Given the description of an element on the screen output the (x, y) to click on. 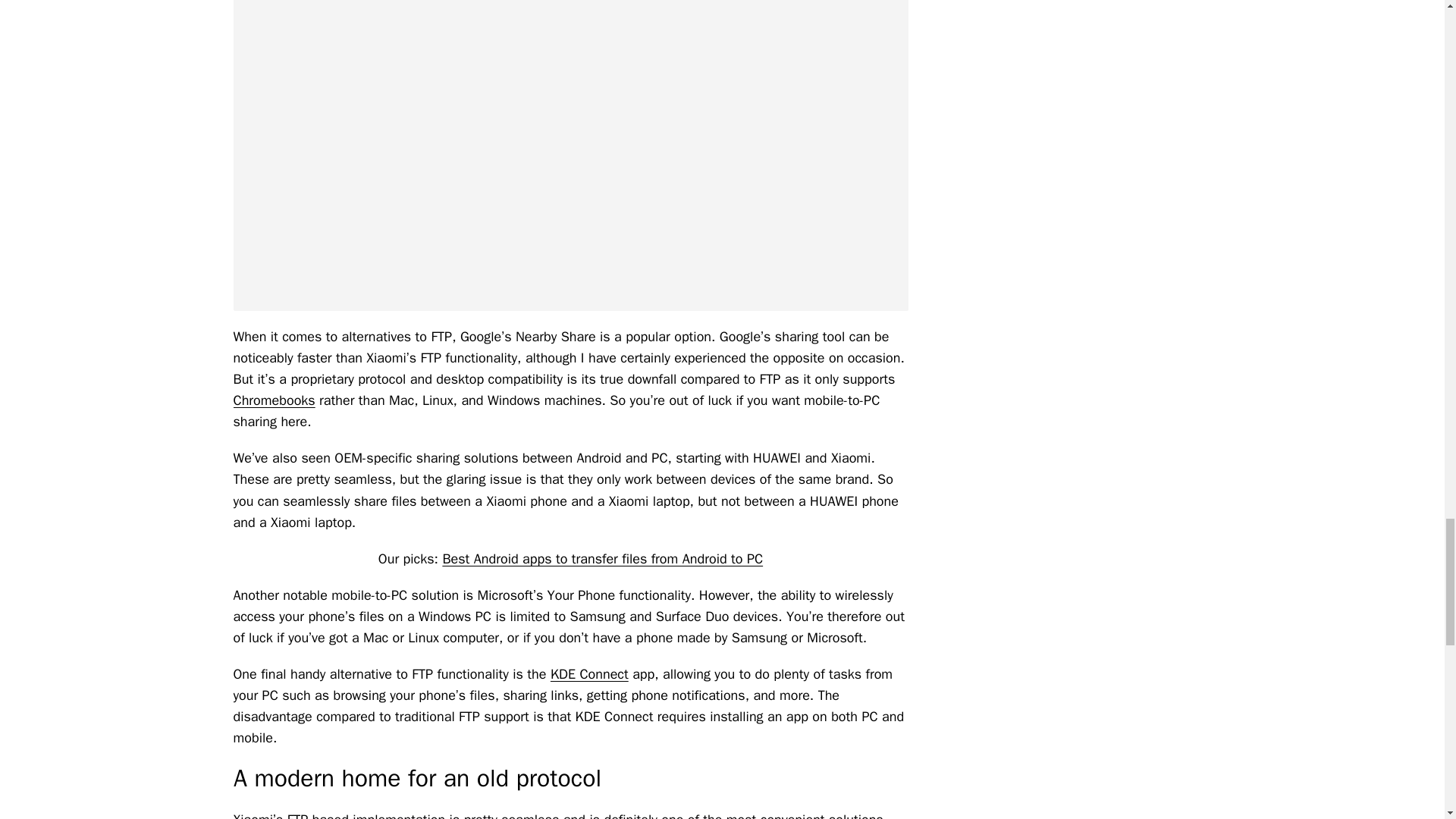
KDE Connect (589, 673)
Best Android apps to transfer files from Android to PC (602, 558)
Chromebooks (273, 400)
